Given the description of an element on the screen output the (x, y) to click on. 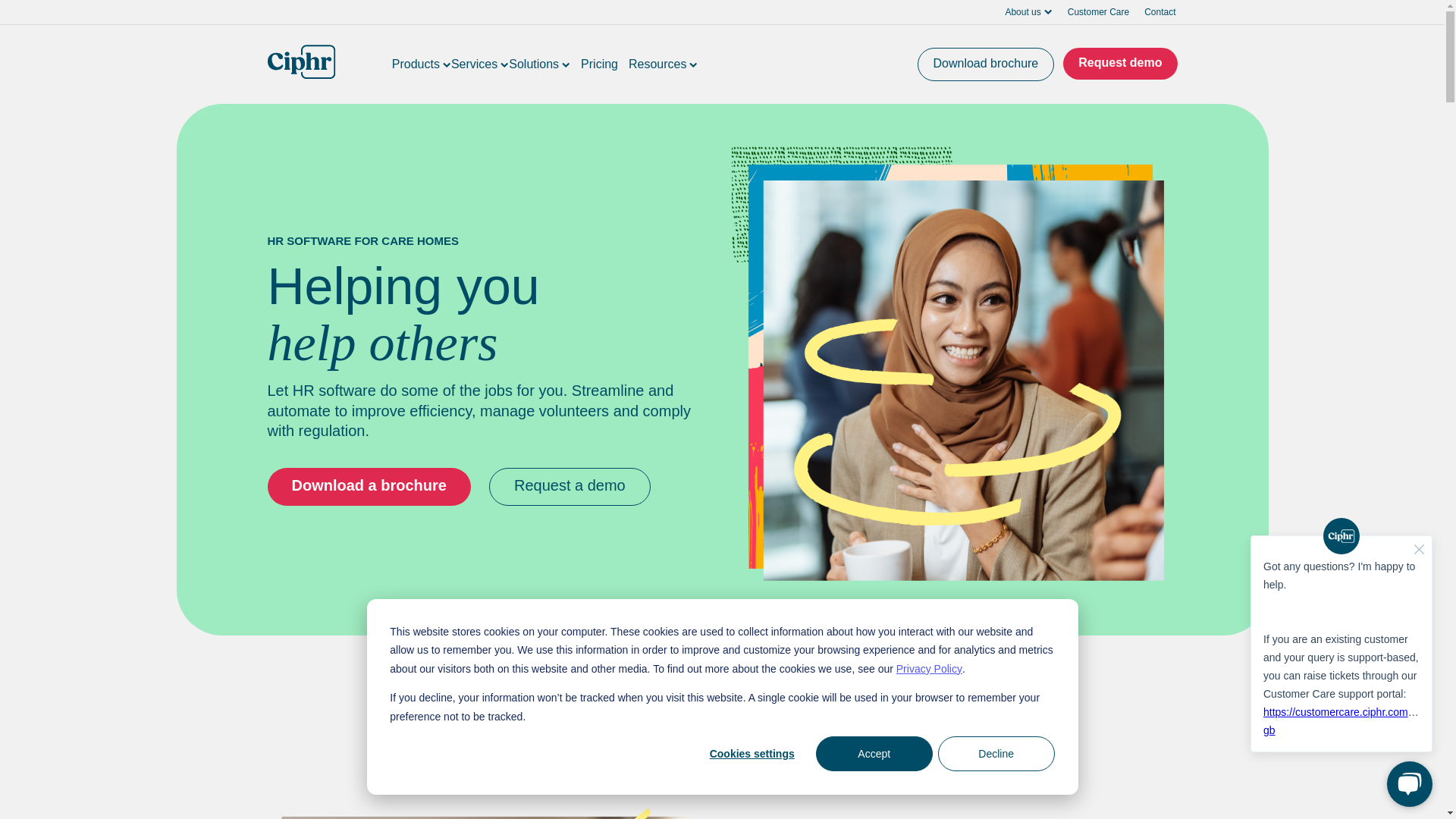
About us (1027, 17)
Skip to content (16, 10)
Customer Care (1098, 12)
Services (479, 64)
Contact (1159, 12)
Ciphr (300, 61)
Products (421, 64)
Solutions (539, 64)
